Given the description of an element on the screen output the (x, y) to click on. 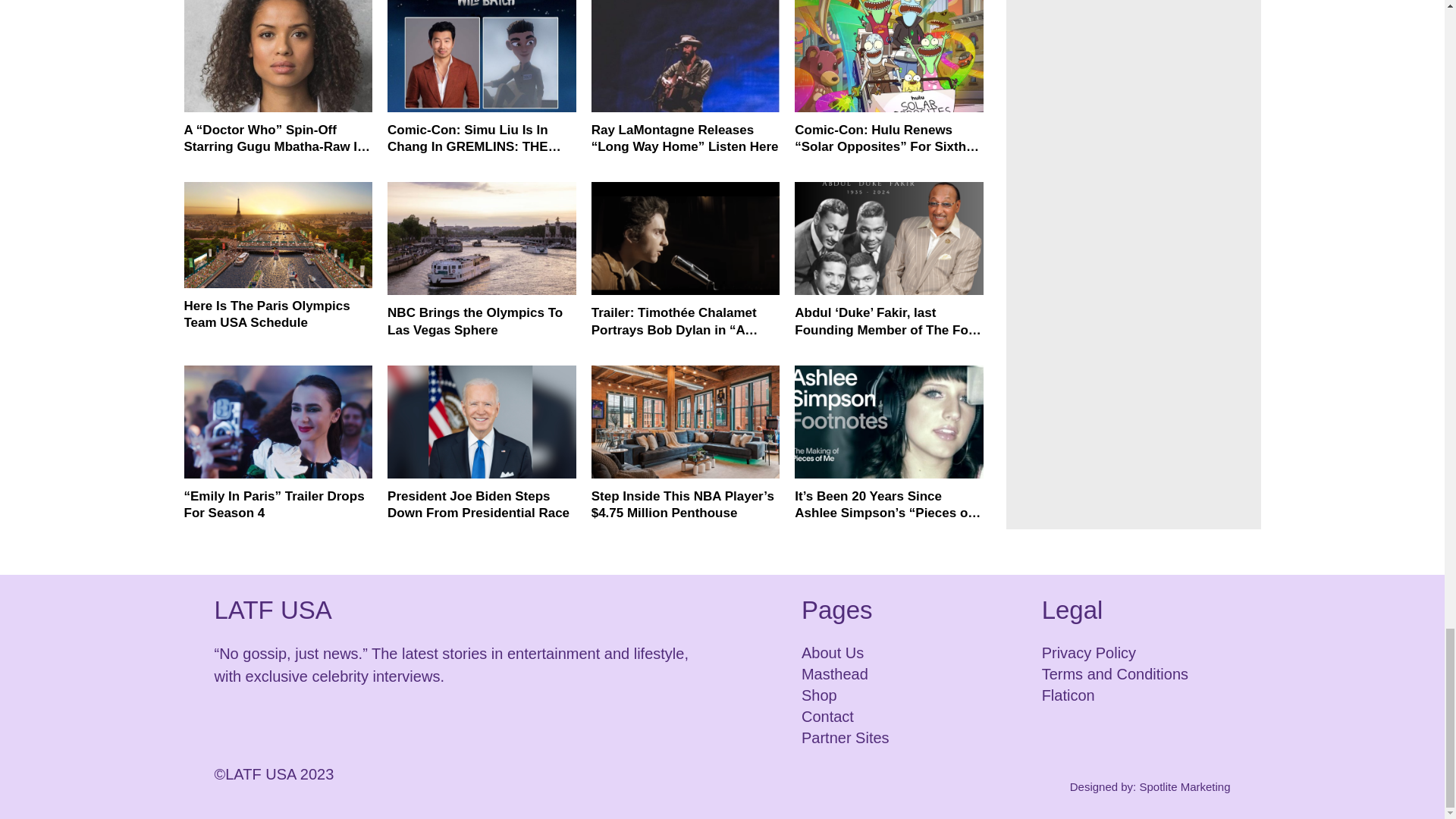
nba player penthouse boston (685, 421)
simu liu gremlins (481, 56)
paris olympics team usa schedule (277, 234)
paris olympics (481, 237)
Gugu Mbatha-Raw (277, 56)
solar opposites on hulu (889, 56)
president joe biden (481, 421)
timothee chalamet, bob dylan (685, 237)
